Given the description of an element on the screen output the (x, y) to click on. 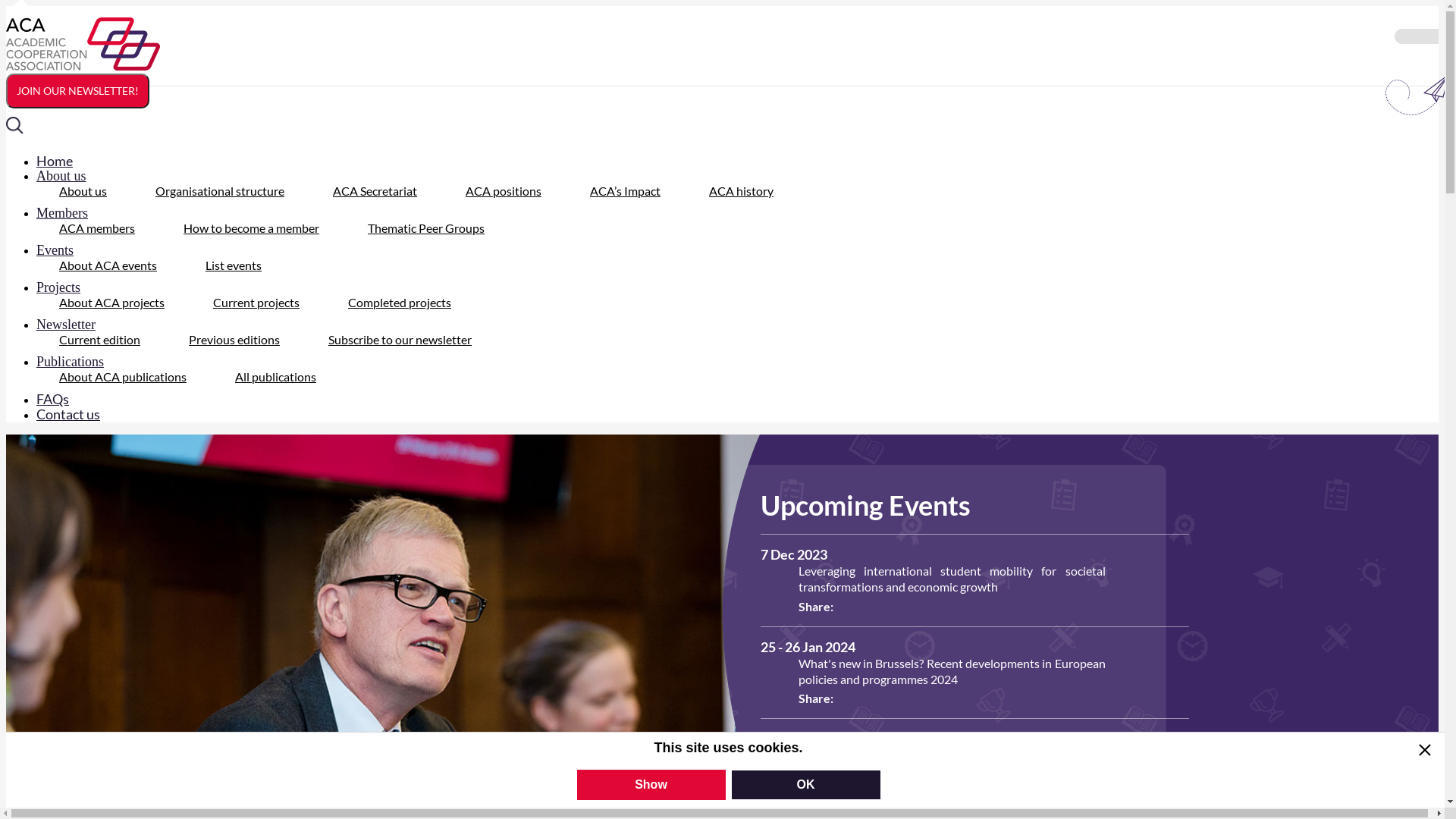
Previous editions Element type: text (234, 339)
VIEW ALL Element type: text (809, 756)
Members Element type: text (73, 212)
Home Element type: text (65, 160)
ACA Secretariat Element type: text (374, 190)
About us Element type: text (72, 175)
How to become a member Element type: text (251, 227)
ACA history Element type: text (741, 190)
ACA members Element type: text (96, 227)
About ACA events Element type: text (107, 264)
Show Element type: text (650, 784)
About ACA projects Element type: text (111, 301)
List events Element type: text (233, 264)
About ACA publications Element type: text (122, 376)
Publications Element type: text (81, 361)
All publications Element type: text (275, 376)
Current projects Element type: text (256, 301)
Completed projects Element type: text (399, 301)
JOIN OUR NEWSLETTER! Element type: text (77, 90)
OK Element type: text (805, 784)
Organisational structure Element type: text (219, 190)
Previous Element type: text (22, 782)
Events Element type: text (66, 250)
About us Element type: text (82, 190)
Contact us Element type: text (79, 413)
Subscribe to our newsletter Element type: text (399, 339)
Next Element type: text (100, 782)
FAQs Element type: text (63, 398)
ACA positions Element type: text (503, 190)
Newsletter Element type: text (77, 324)
Projects Element type: text (69, 287)
Current edition Element type: text (99, 339)
Thematic Peer Groups Element type: text (426, 227)
